Given the description of an element on the screen output the (x, y) to click on. 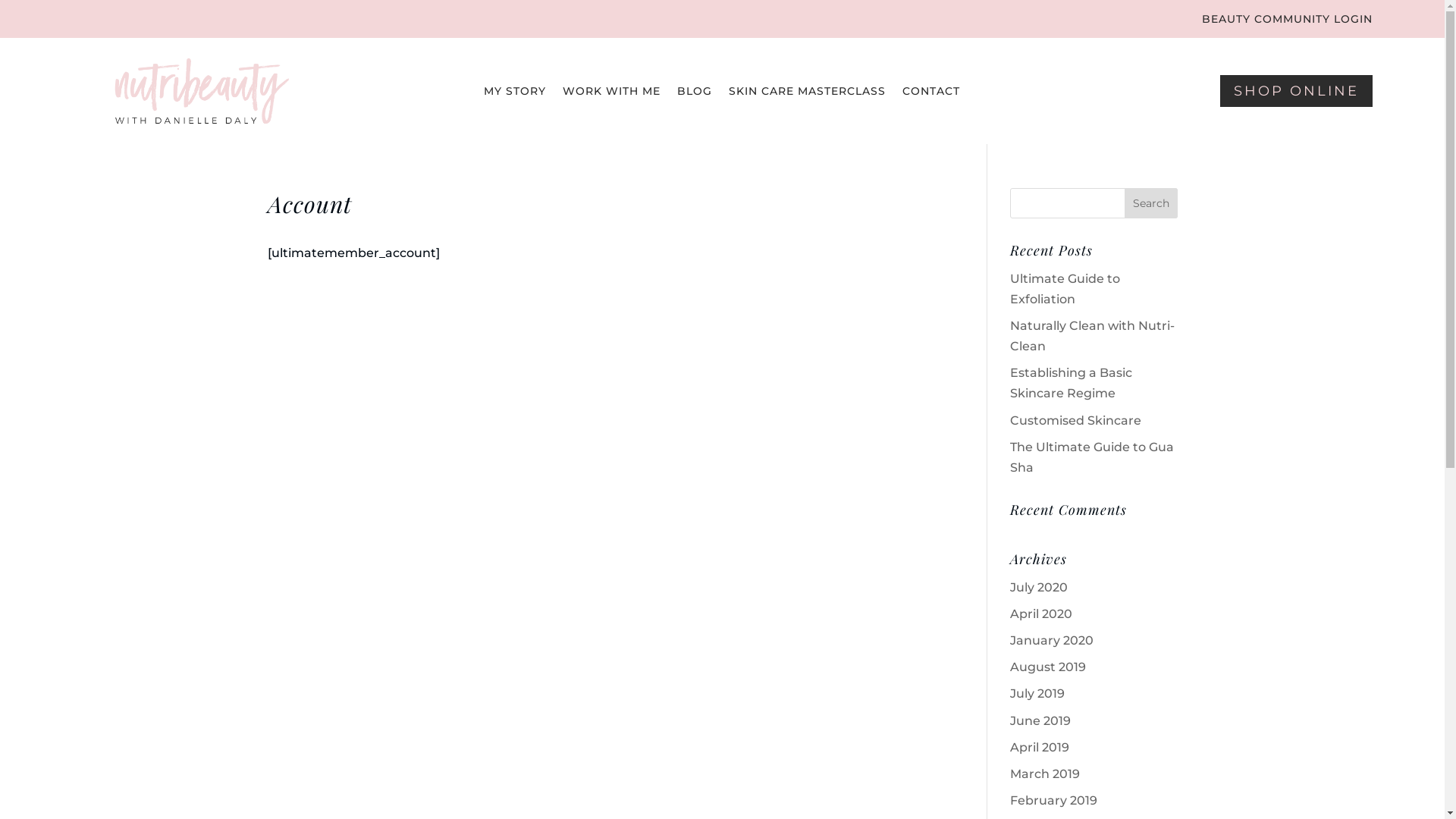
February 2019 Element type: text (1053, 800)
Naturally Clean with Nutri-Clean Element type: text (1092, 335)
April 2020 Element type: text (1041, 613)
WORK WITH ME Element type: text (611, 93)
Search Element type: text (1150, 203)
July 2019 Element type: text (1037, 693)
Establishing a Basic Skincare Regime Element type: text (1071, 382)
BLOG Element type: text (694, 93)
MY STORY Element type: text (514, 93)
SHOP ONLINE Element type: text (1296, 90)
Ultimate Guide to Exfoliation Element type: text (1065, 288)
BEAUTY COMMUNITY LOGIN Element type: text (1286, 21)
July 2020 Element type: text (1038, 587)
June 2019 Element type: text (1040, 720)
SKIN CARE MASTERCLASS Element type: text (806, 93)
January 2020 Element type: text (1051, 640)
August 2019 Element type: text (1047, 666)
CONTACT Element type: text (931, 93)
March 2019 Element type: text (1044, 773)
Nutribeauty - Central Coast's premier Nutrimetics consultant Element type: hover (201, 90)
April 2019 Element type: text (1039, 747)
The Ultimate Guide to Gua Sha Element type: text (1091, 456)
Customised Skincare Element type: text (1075, 420)
